Given the description of an element on the screen output the (x, y) to click on. 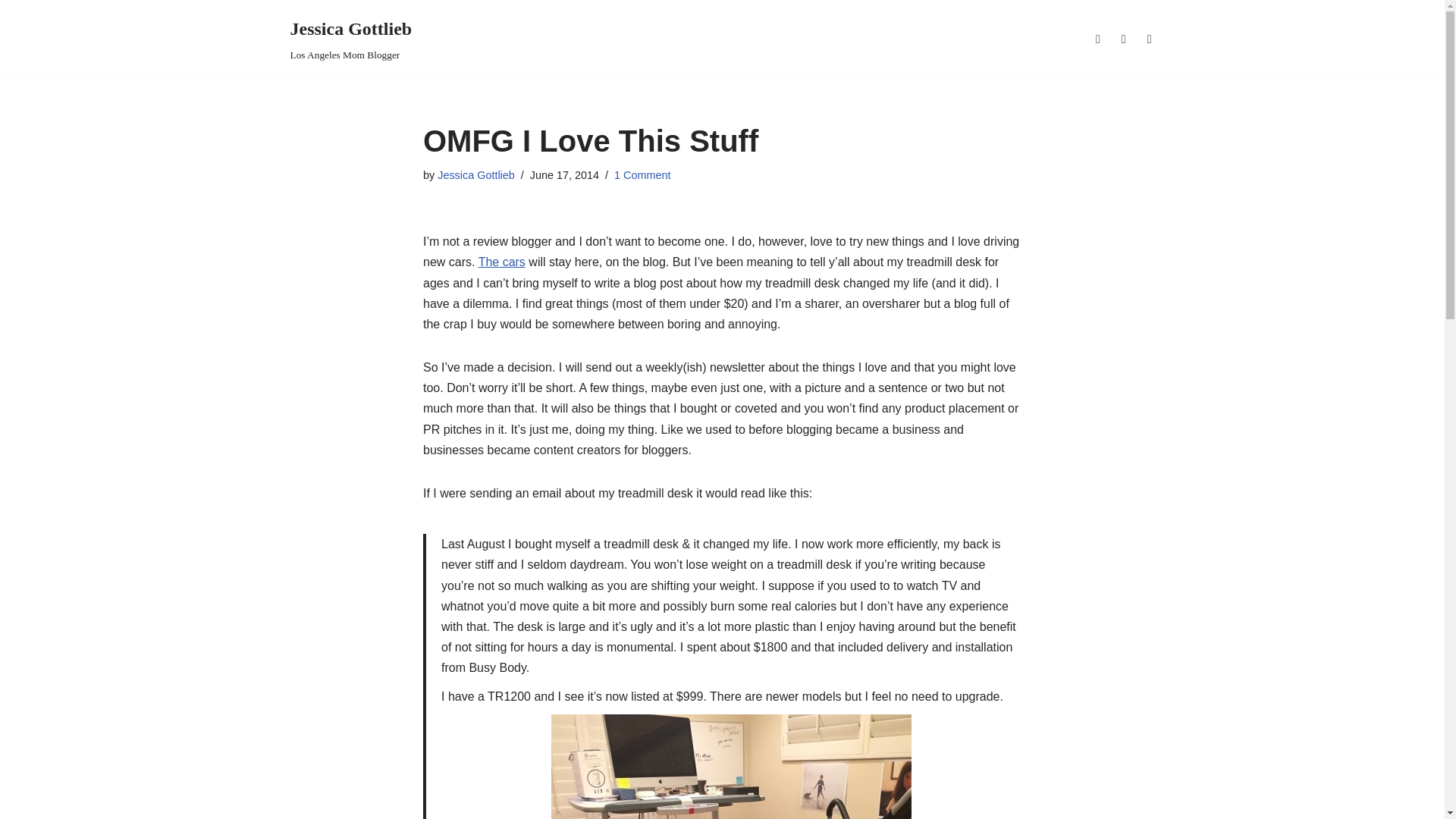
Skip to content (11, 31)
Jessica Gottlieb (476, 174)
1 Comment (350, 39)
The cars (641, 174)
Automotive (502, 261)
Jessica Gottlieb (502, 261)
Posts by Jessica Gottlieb (350, 39)
